Given the description of an element on the screen output the (x, y) to click on. 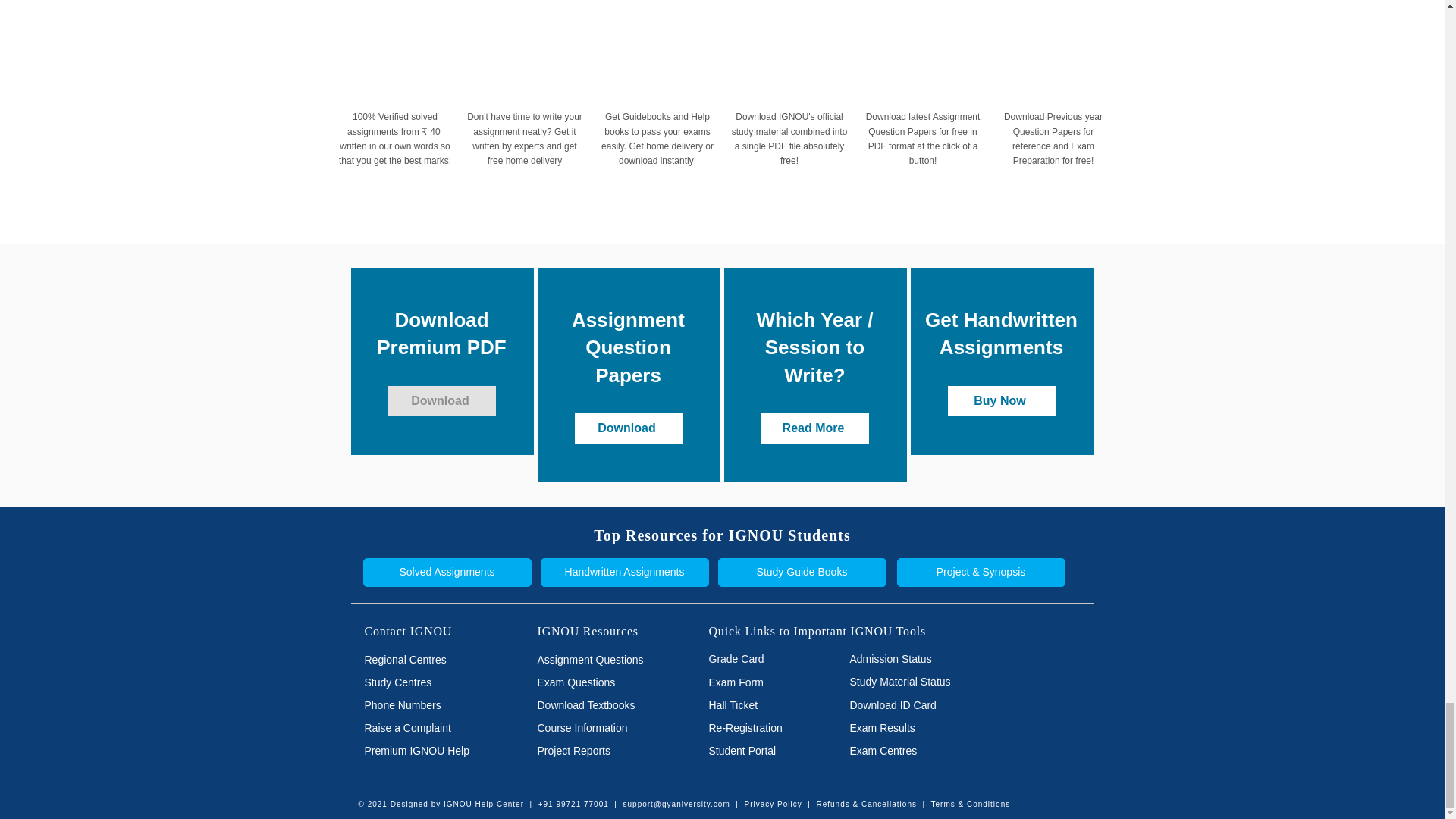
Phone Numbers (425, 705)
Study Centres (425, 682)
Handwritten Assignments (623, 572)
Study Guide Books (801, 572)
Download (628, 428)
Download (442, 400)
Read More (815, 428)
Solved Assignments (446, 572)
Regional Centres (425, 660)
Buy Now (1001, 400)
